Given the description of an element on the screen output the (x, y) to click on. 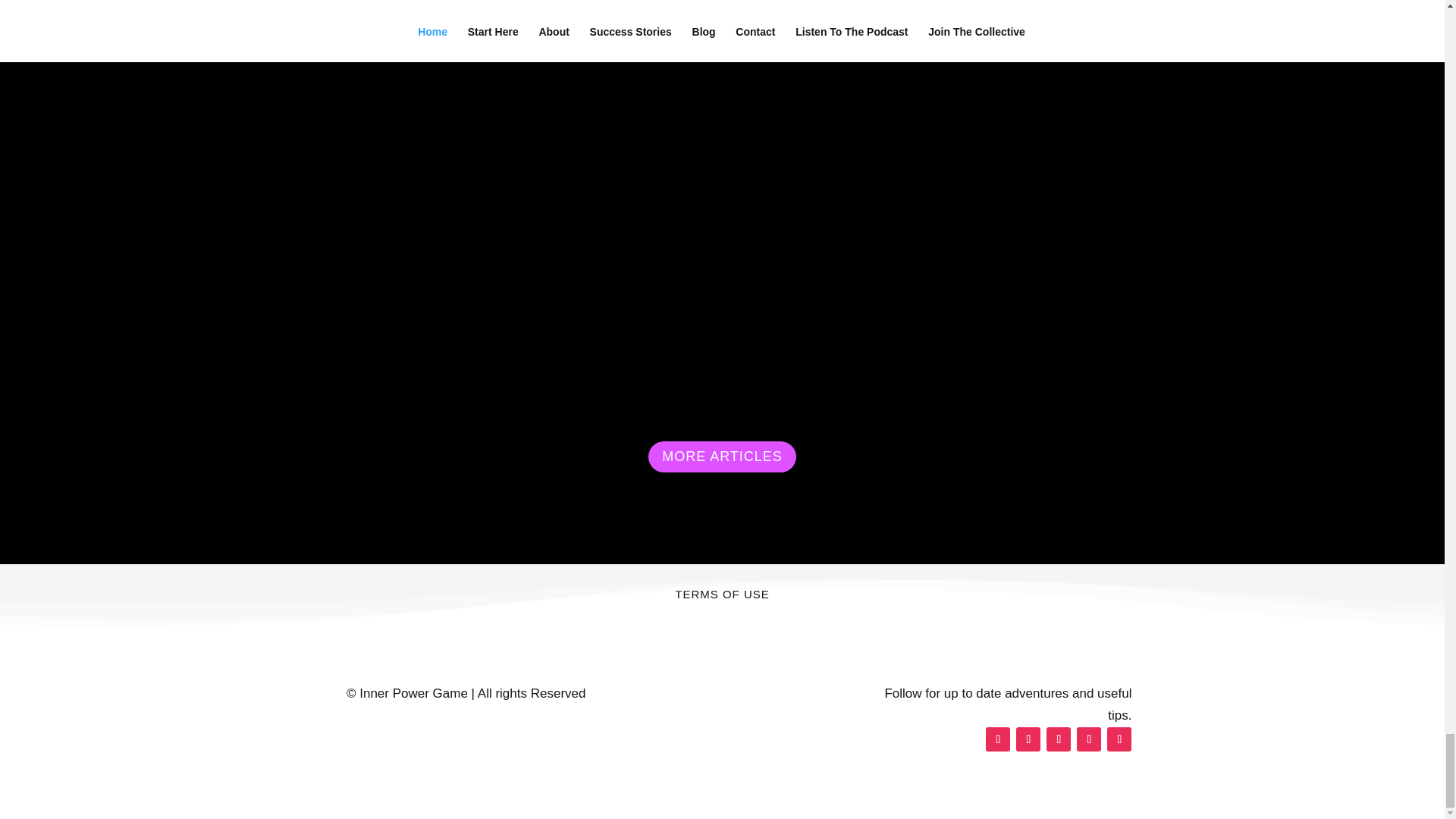
Follow on Pinterest (1088, 739)
Follow on X (1028, 739)
Follow on Facebook (997, 739)
Follow on Instagram (1058, 739)
MORE ARTICLES (721, 456)
TERMS OF USE (722, 604)
Follow on Youtube (1118, 739)
